Given the description of an element on the screen output the (x, y) to click on. 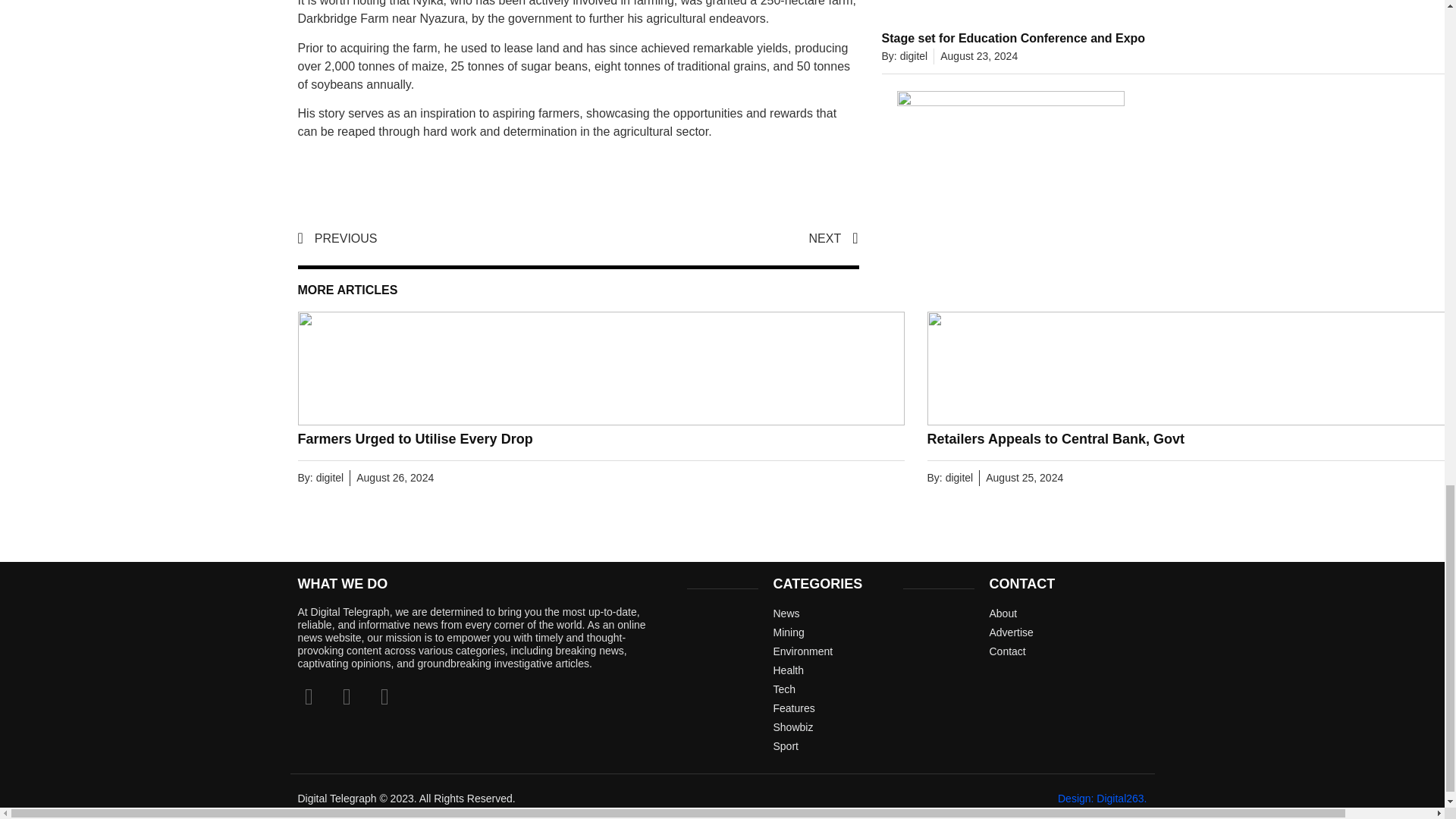
Farmers Urged to Utilise Every Drop (415, 438)
NEXT (717, 238)
PREVIOUS (438, 238)
Stage set for Education Conference and Expo (1013, 38)
